Given the description of an element on the screen output the (x, y) to click on. 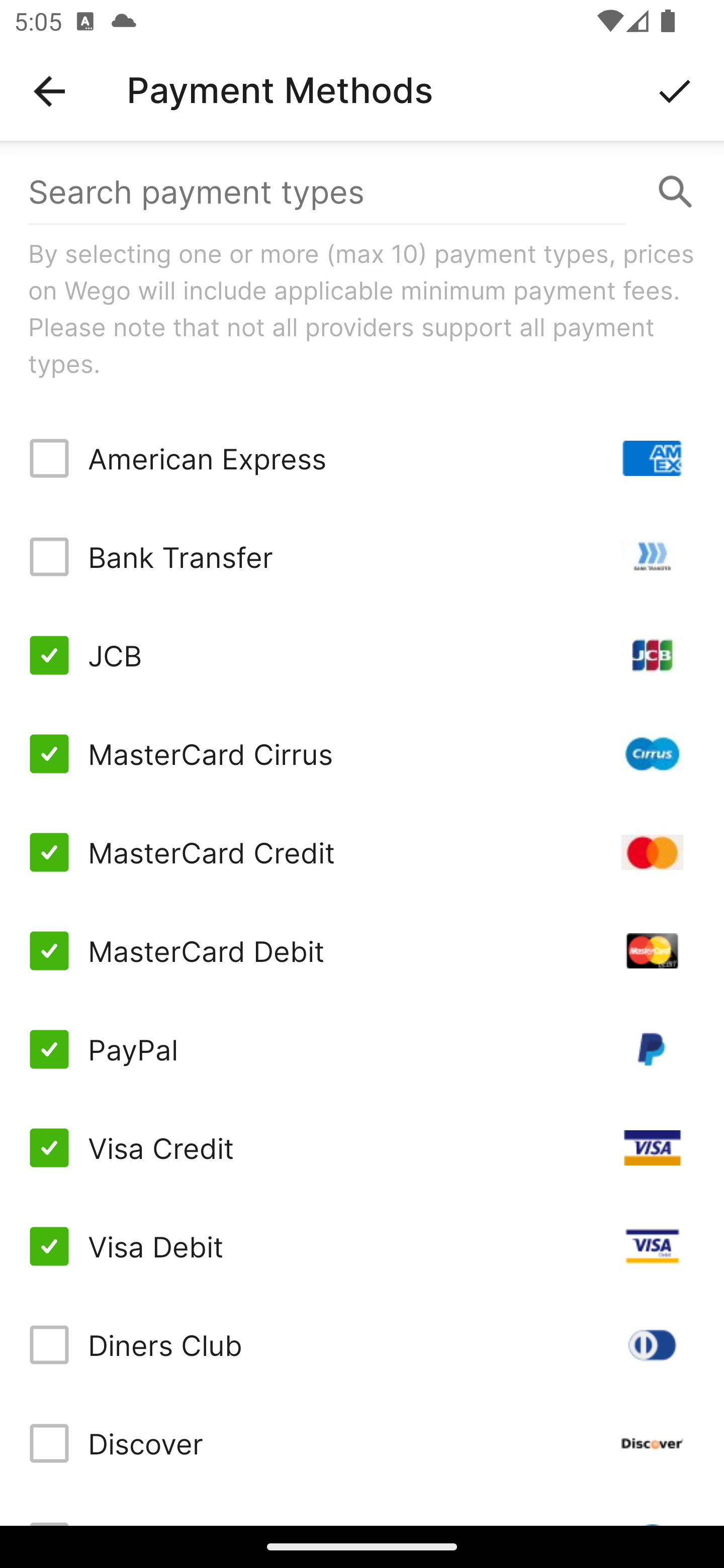
Search payment types  (361, 191)
American Express (362, 458)
Bank Transfer (362, 557)
JCB (362, 655)
MasterCard Cirrus (362, 753)
MasterCard Credit (362, 851)
MasterCard Debit (362, 950)
PayPal (362, 1049)
Visa Credit (362, 1147)
Visa Debit (362, 1245)
Diners Club (362, 1344)
Discover (362, 1442)
